Given the description of an element on the screen output the (x, y) to click on. 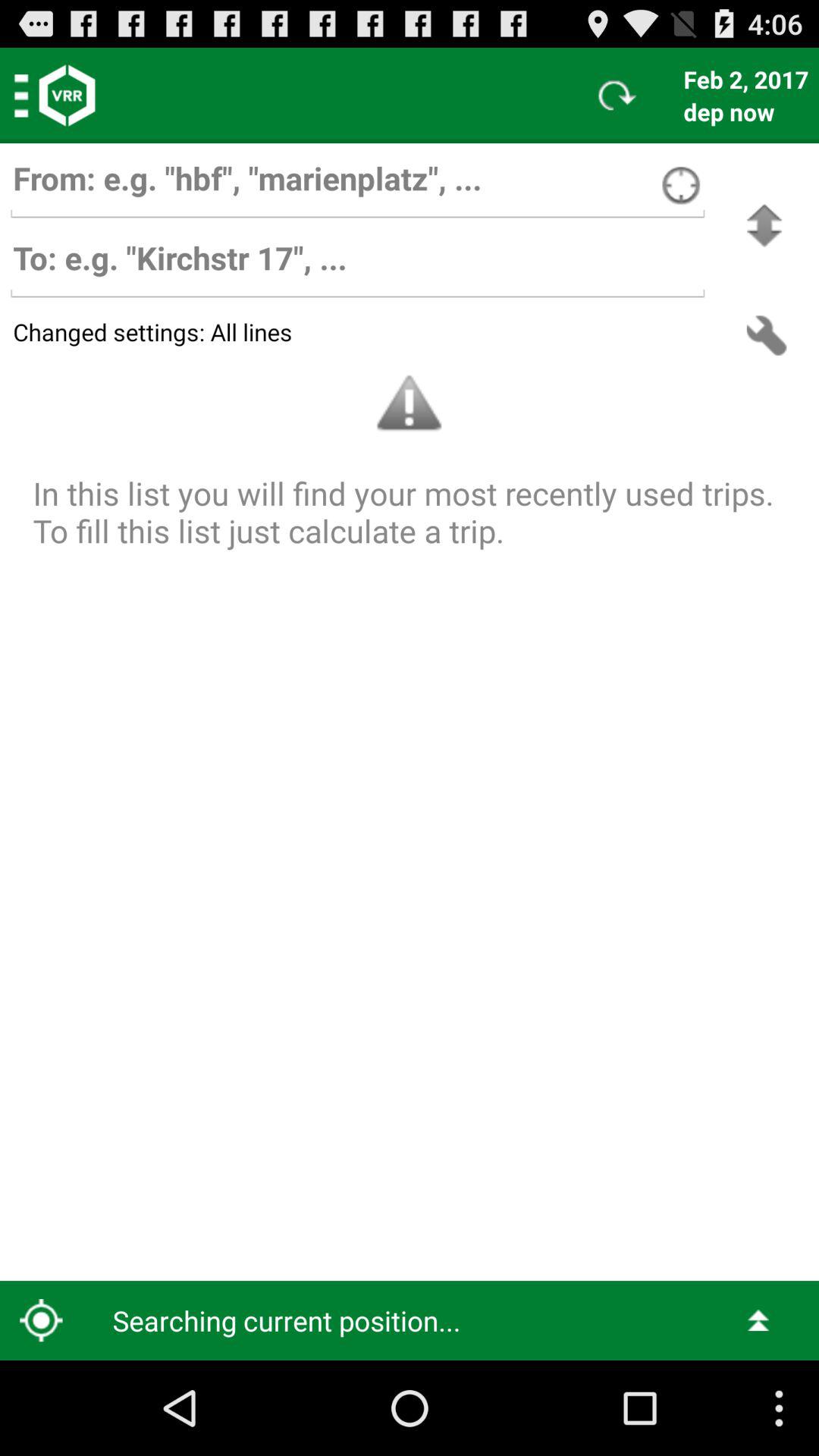
who the e-mail is from (357, 185)
